Given the description of an element on the screen output the (x, y) to click on. 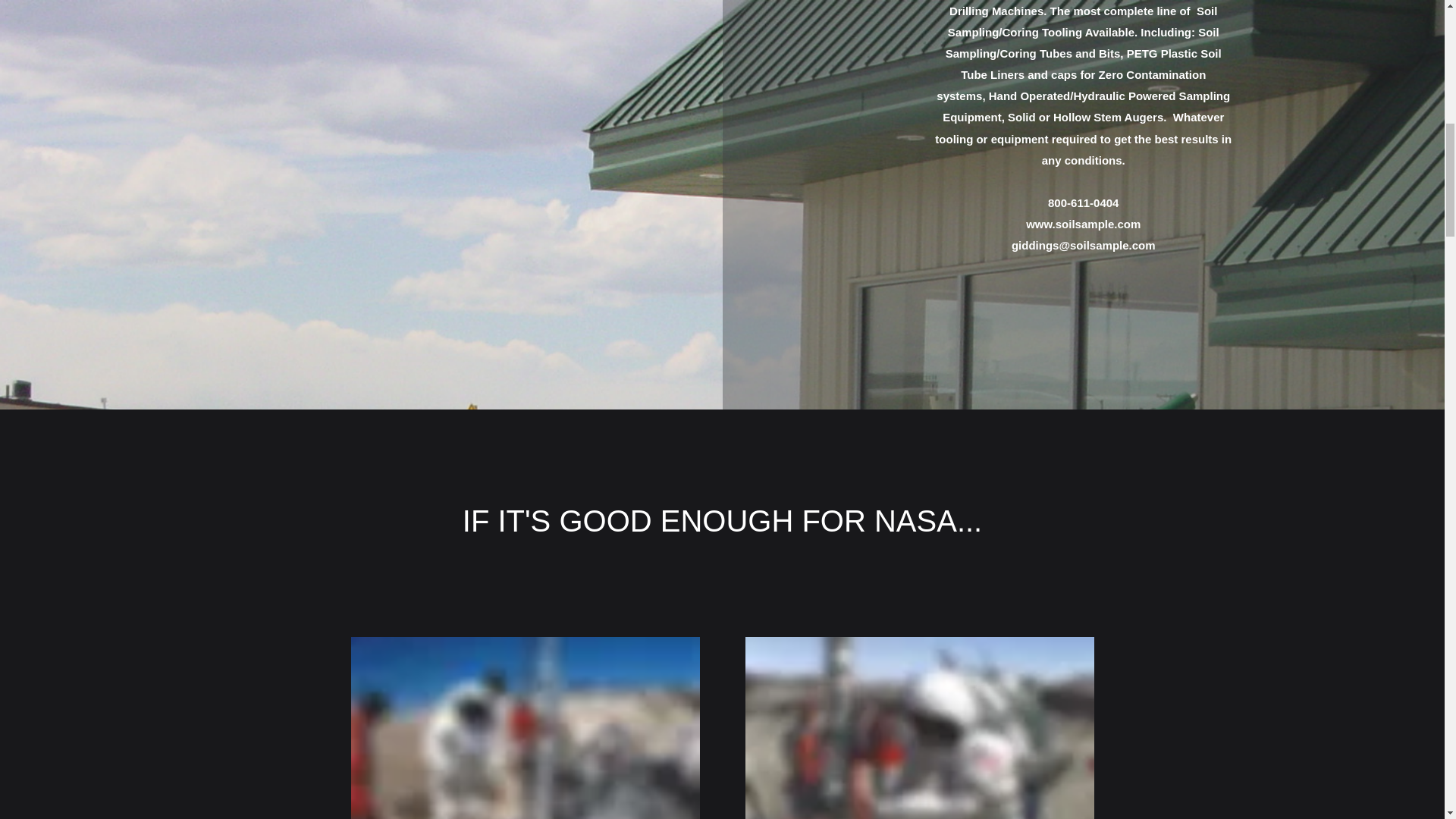
IF IT'S GOOD ENOUGH FOR NASA... (722, 520)
www.soilsample.com (1083, 223)
